Given the description of an element on the screen output the (x, y) to click on. 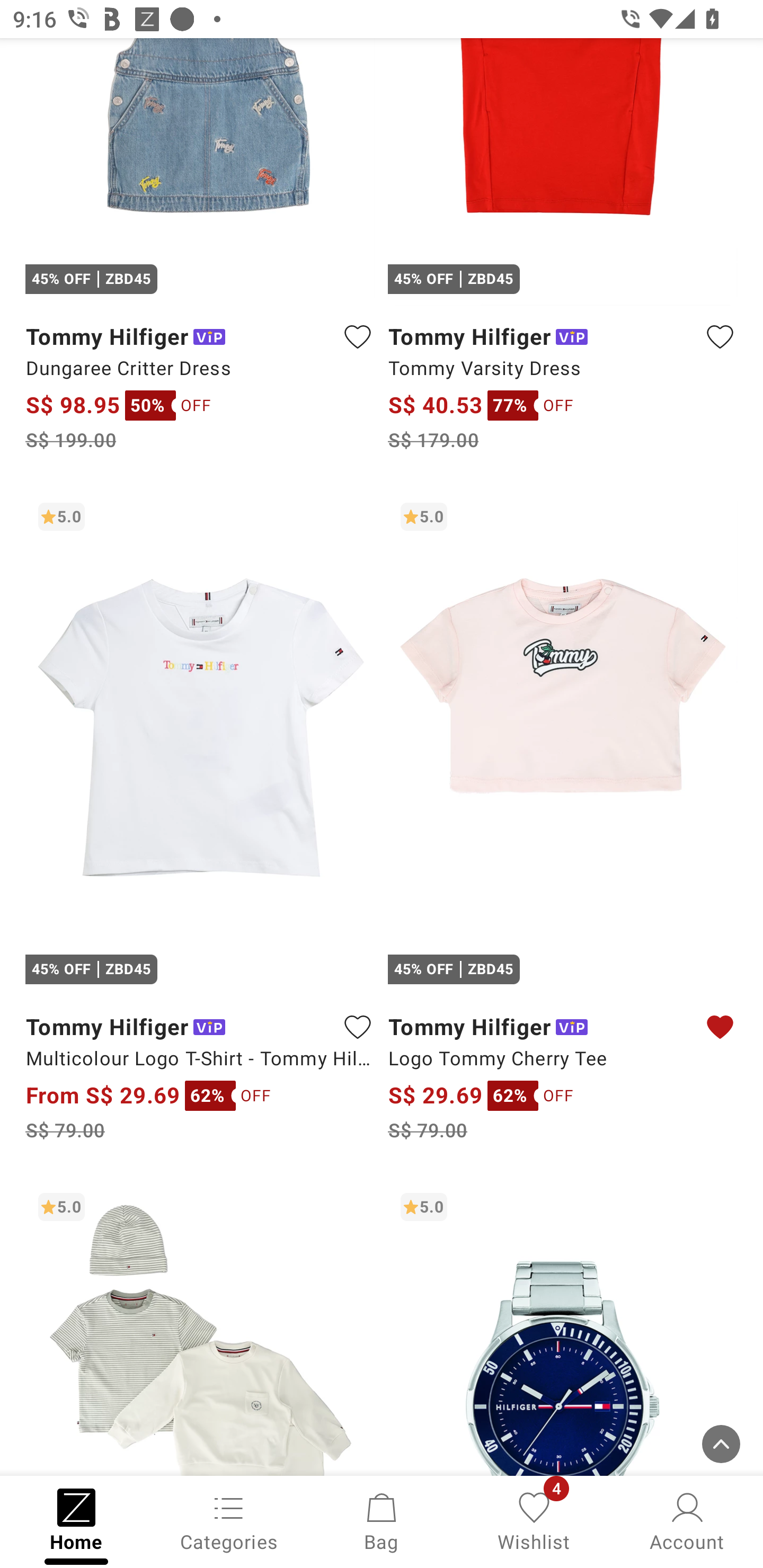
5.0 (200, 1327)
5.0 (562, 1327)
Categories (228, 1519)
Bag (381, 1519)
Wishlist, 4 new notifications Wishlist (533, 1519)
Account (686, 1519)
